Given the description of an element on the screen output the (x, y) to click on. 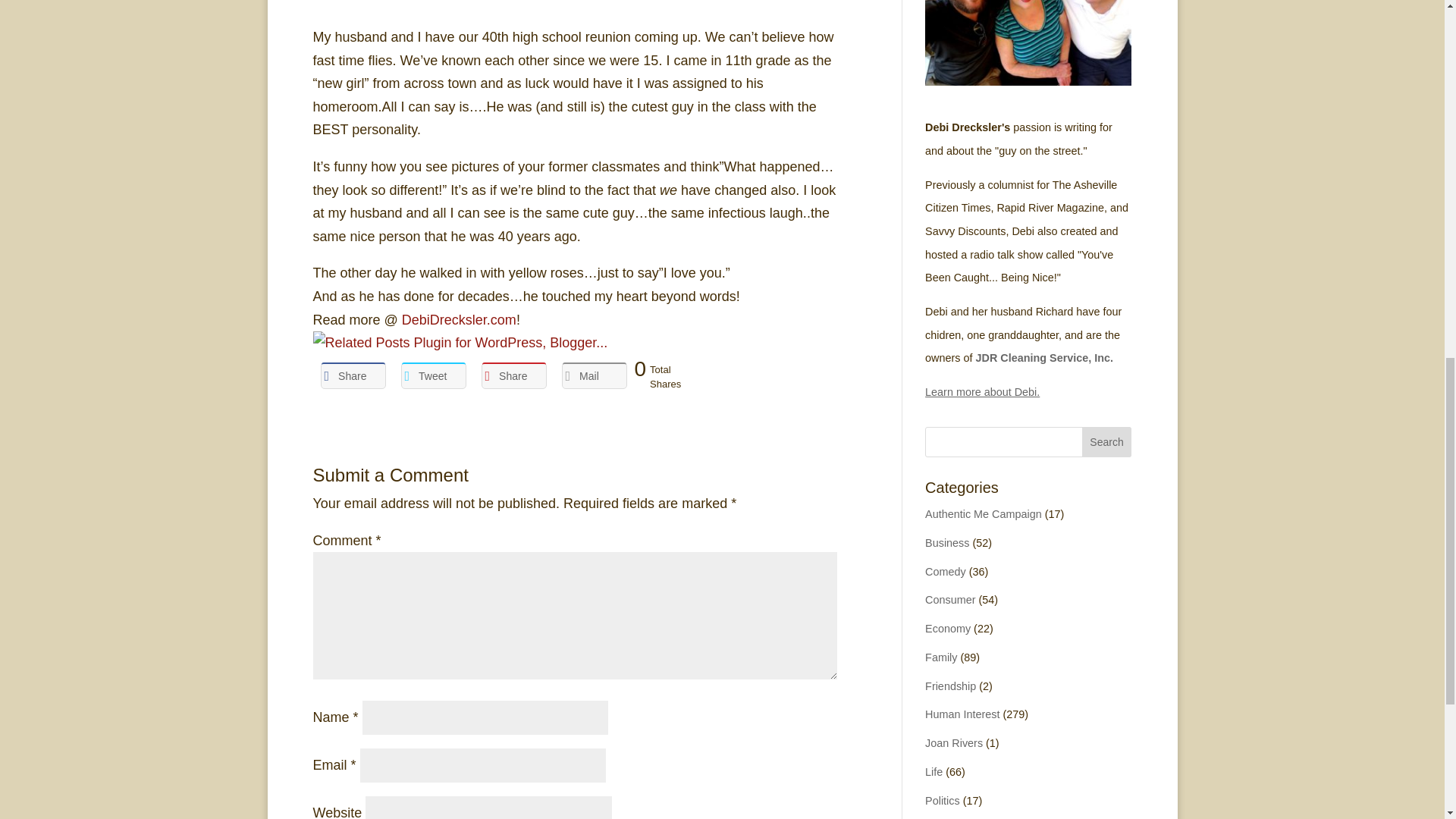
DebiDrecksler.com (458, 319)
Share it on Email (593, 375)
Share on Pinterest (513, 375)
Share on Facebook (352, 375)
Share (352, 375)
Share (513, 375)
Mail (593, 375)
Consumer (949, 599)
Friendship (949, 686)
Search (1106, 441)
